Given the description of an element on the screen output the (x, y) to click on. 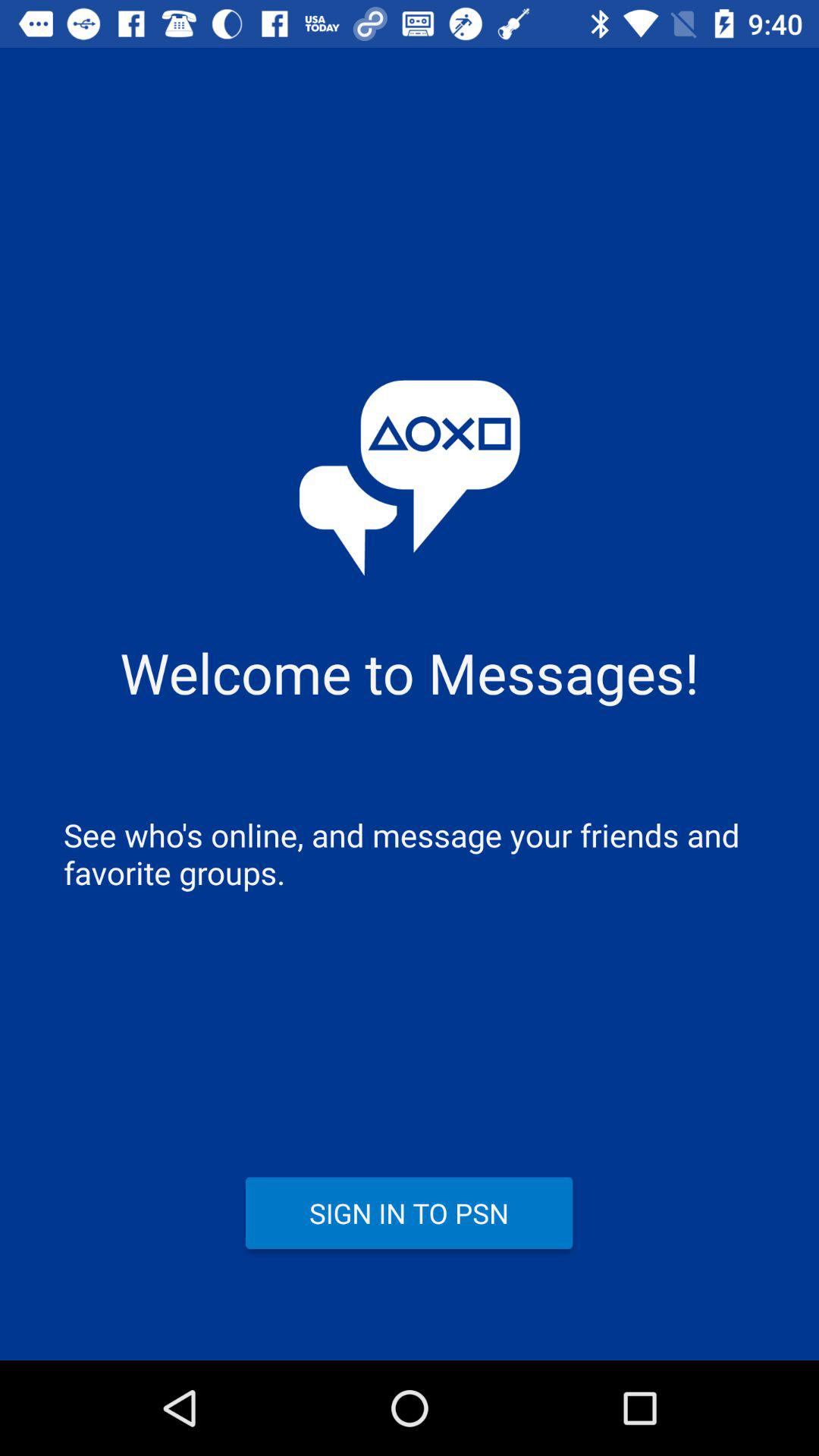
click sign in to item (408, 1212)
